Given the description of an element on the screen output the (x, y) to click on. 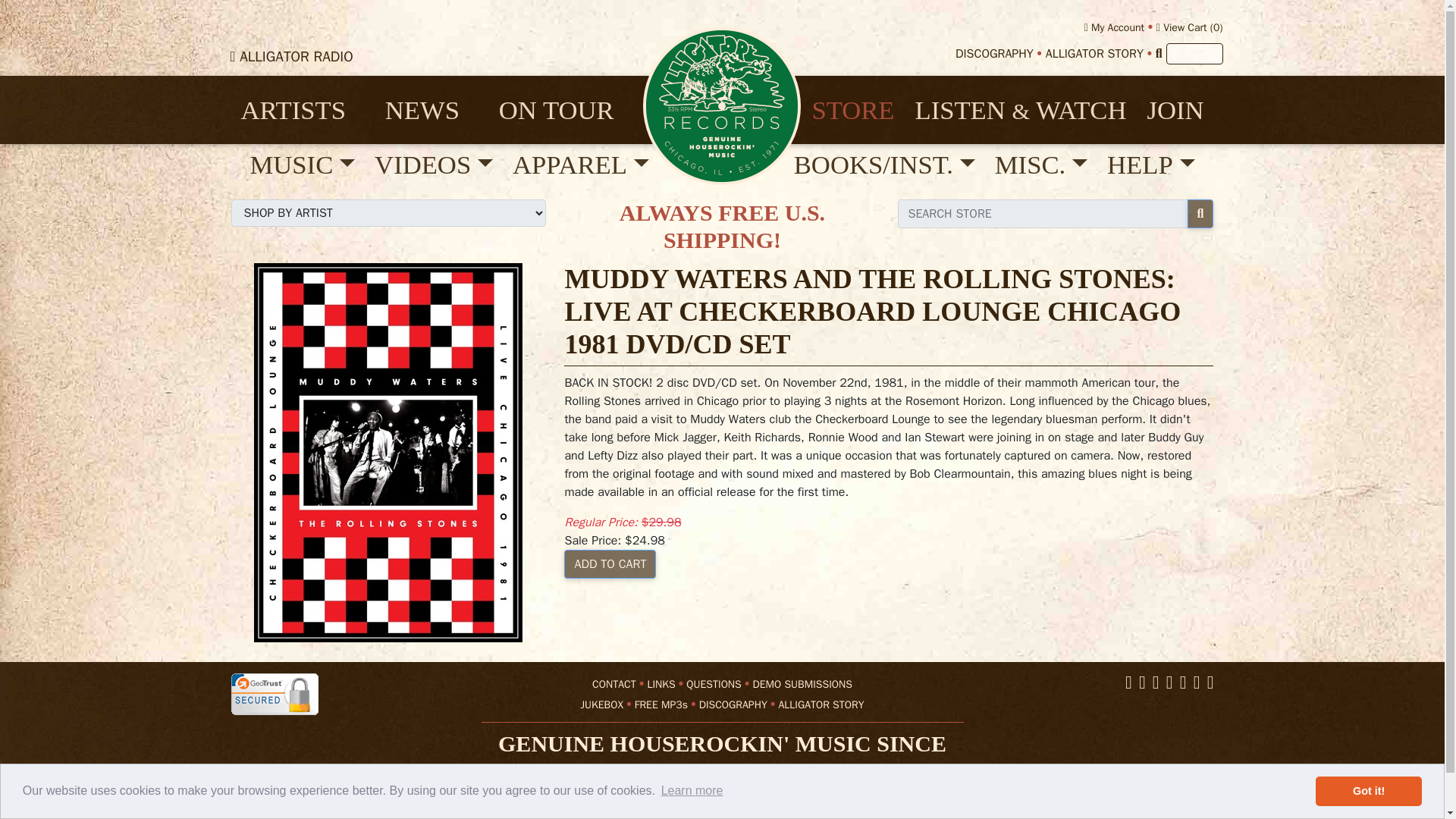
STORE (852, 109)
DISCOGRAPHY (994, 53)
GeoTrust (273, 693)
Learn more (691, 790)
ALLIGATOR STORY (1093, 53)
Alligator Records (721, 105)
My Account (1114, 27)
Got it! (1369, 791)
ALLIGATOR RADIO (296, 55)
JOIN (1174, 109)
ARTISTS (302, 109)
ON TOUR (566, 109)
NEWS (431, 109)
